Given the description of an element on the screen output the (x, y) to click on. 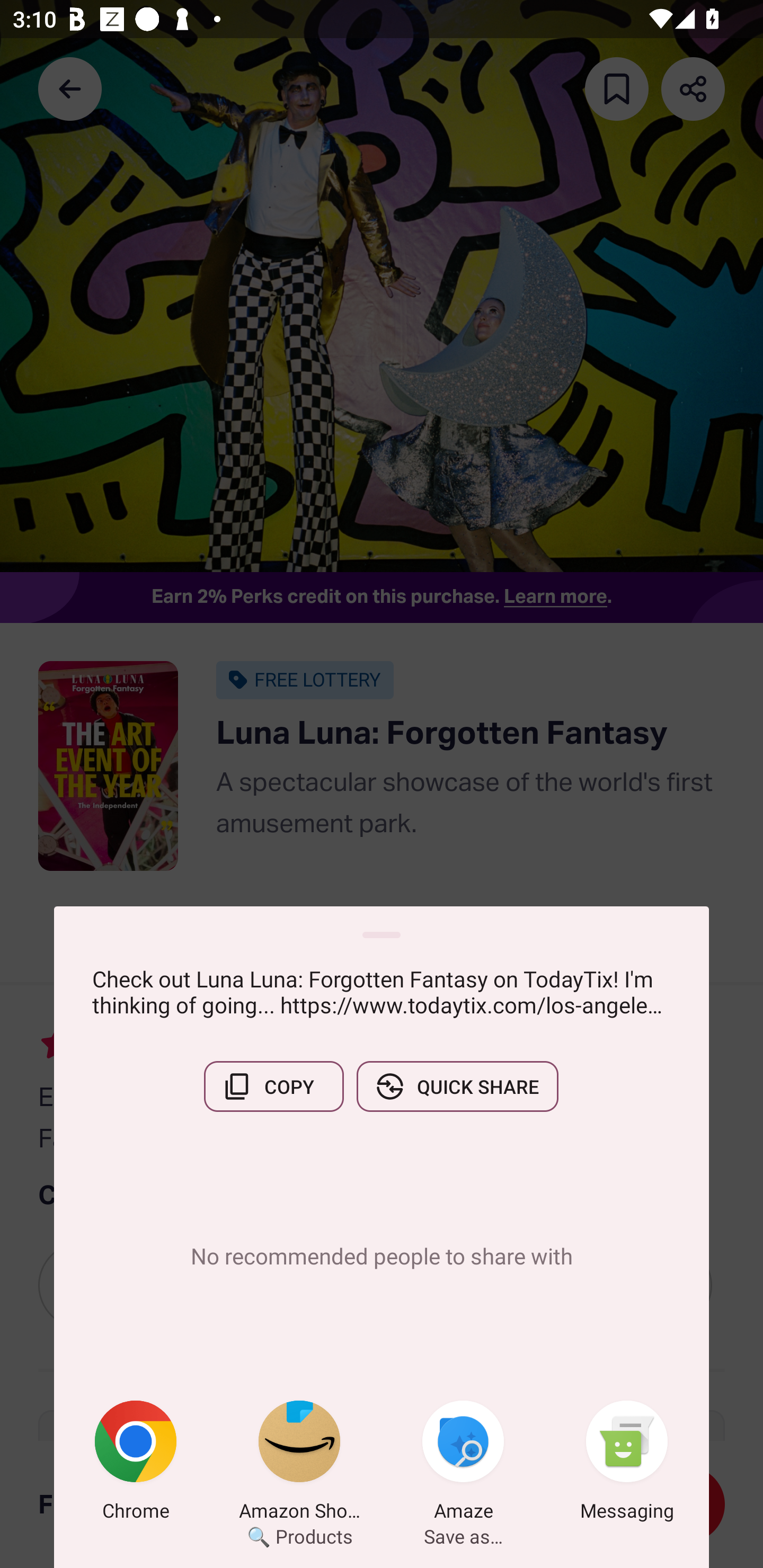
COPY (273, 1086)
QUICK SHARE (457, 1086)
Chrome (135, 1463)
Amazon Shopping 🔍 Products (299, 1463)
Amaze Save as… (463, 1463)
Messaging (626, 1463)
